Given the description of an element on the screen output the (x, y) to click on. 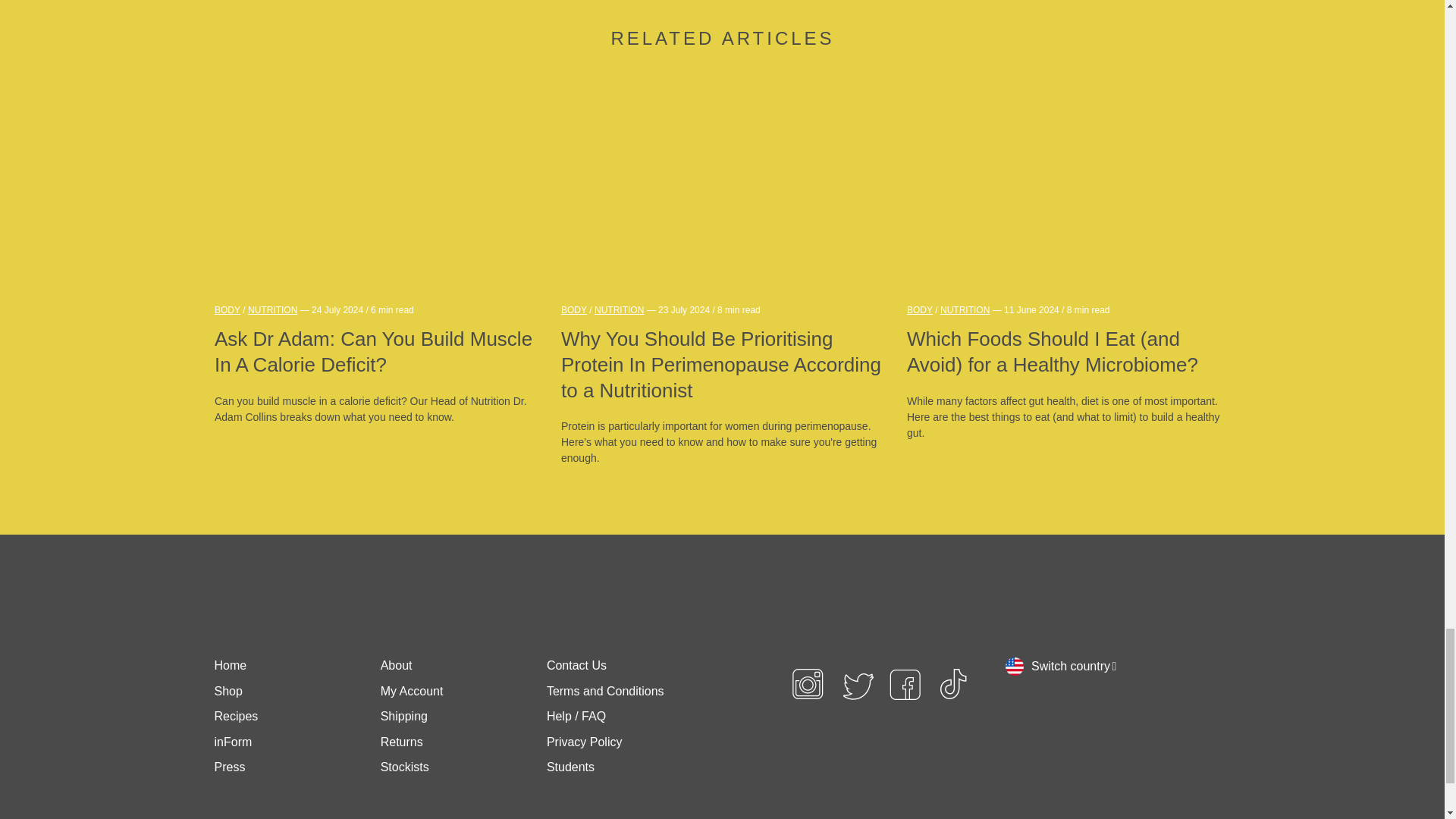
BODY (573, 310)
CoolBrands UK (823, 780)
BODY (227, 310)
NUTRITION (272, 310)
Ocean Positive (895, 780)
NUTRITION (618, 310)
BCorp (953, 780)
Ask Dr Adam: Can You Build Muscle In A Calorie Deficit? (375, 352)
